Given the description of an element on the screen output the (x, y) to click on. 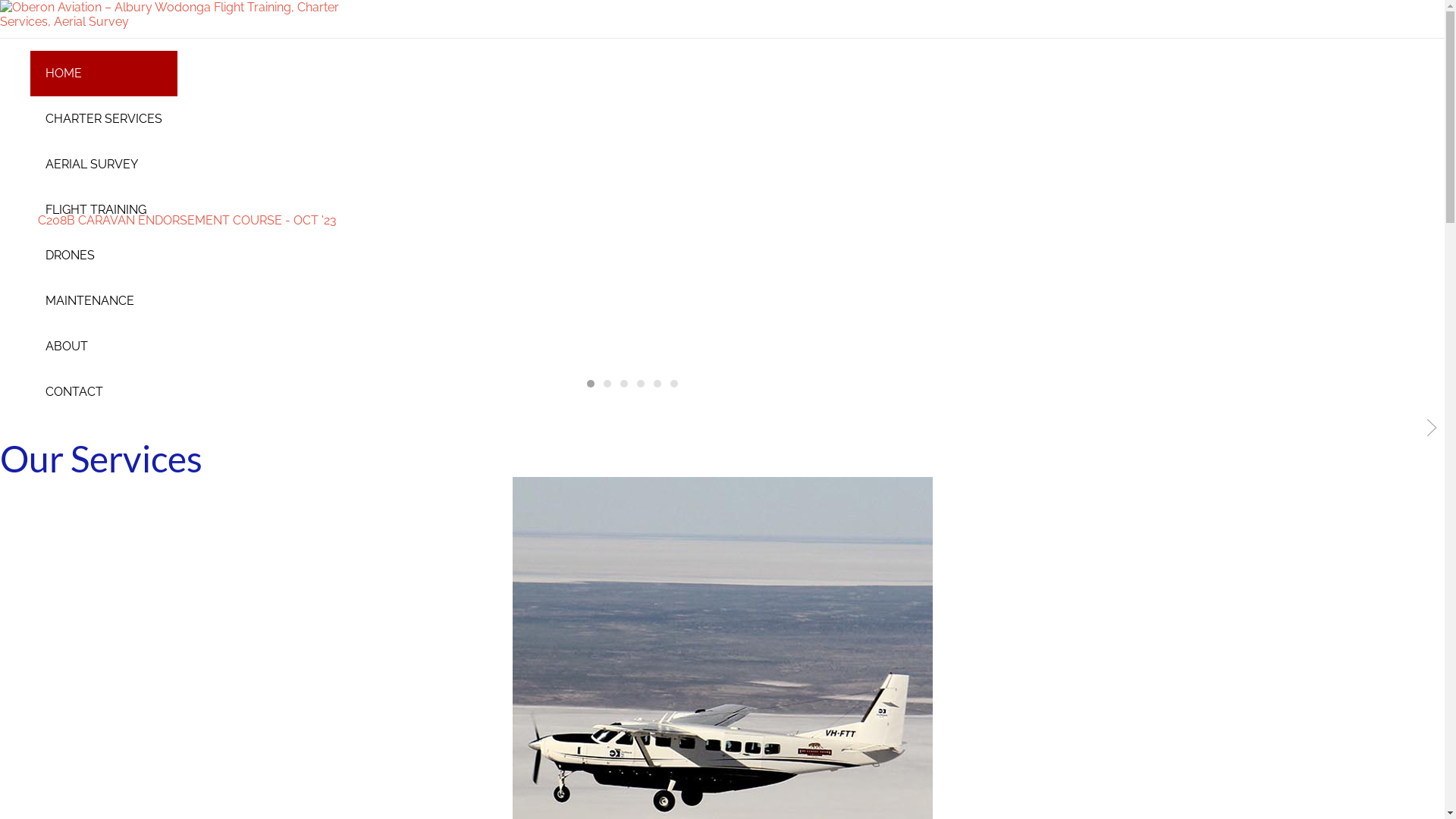
C208B CARAVAN ENDORSEMENT COURSE - OCT '23 Element type: text (186, 220)
HOME Element type: text (103, 73)
CHARTER SERVICES Element type: text (103, 118)
CONTACT Element type: text (103, 391)
FLIGHT TRAINING Element type: text (103, 209)
ABOUT Element type: text (103, 346)
DRONES Element type: text (103, 255)
AERIAL SURVEY Element type: text (103, 164)
MAINTENANCE Element type: text (103, 300)
